Given the description of an element on the screen output the (x, y) to click on. 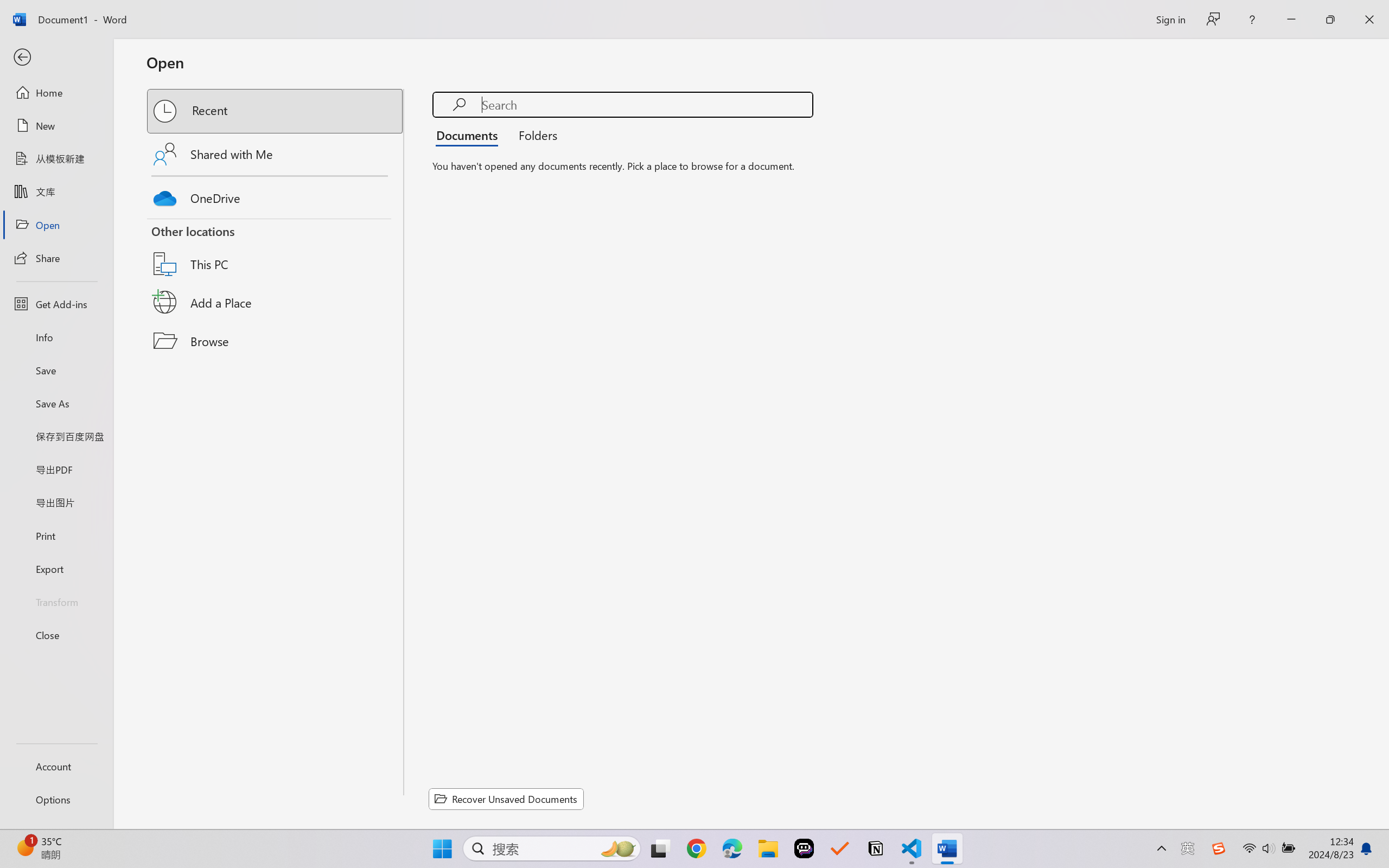
Account (56, 765)
Recent (275, 110)
Add a Place (275, 302)
Info (56, 337)
Documents (469, 134)
